Given the description of an element on the screen output the (x, y) to click on. 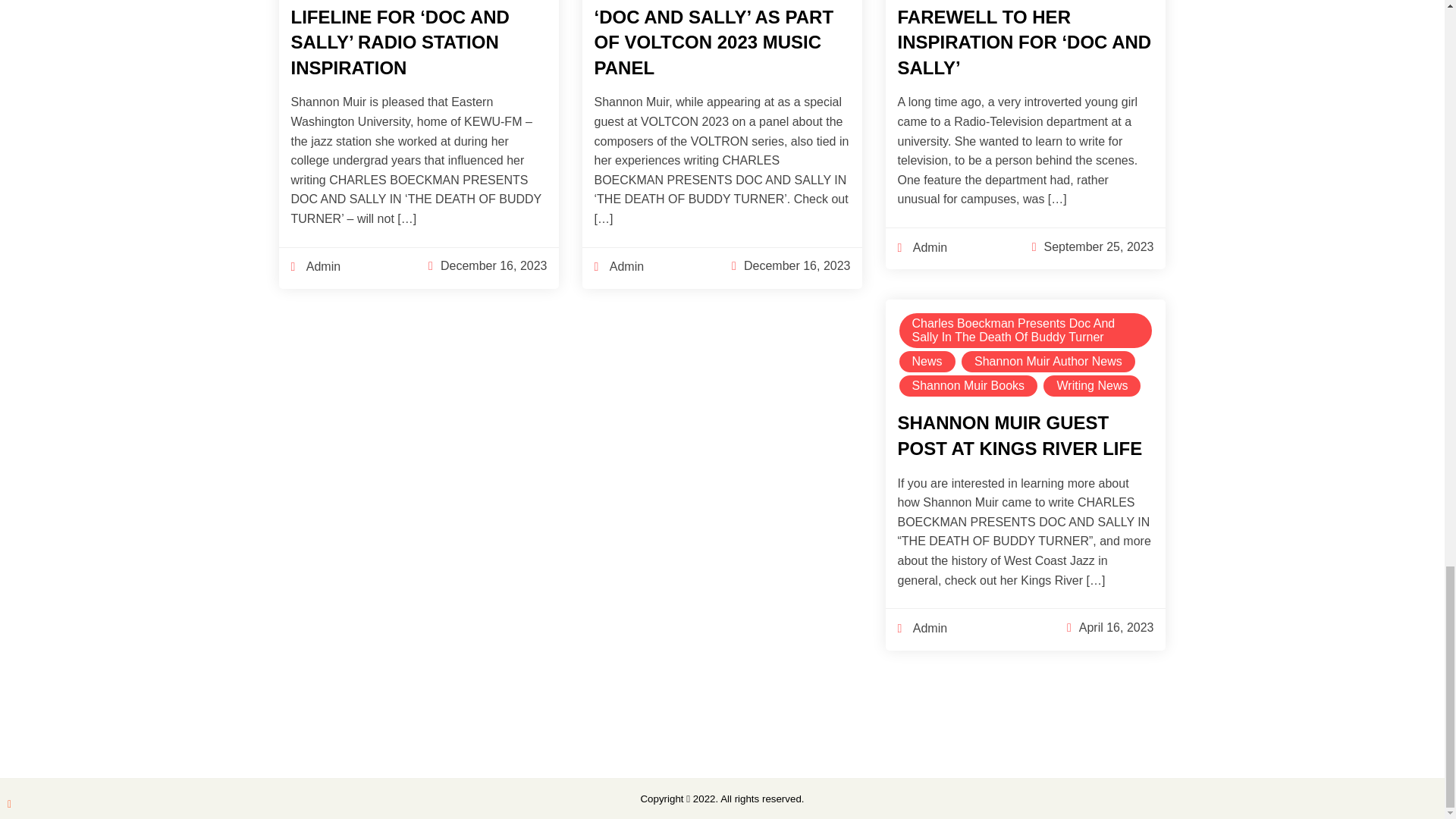
December 16, 2023 (494, 265)
December 16, 2023 (797, 265)
Admin (619, 266)
Admin (315, 266)
